Given the description of an element on the screen output the (x, y) to click on. 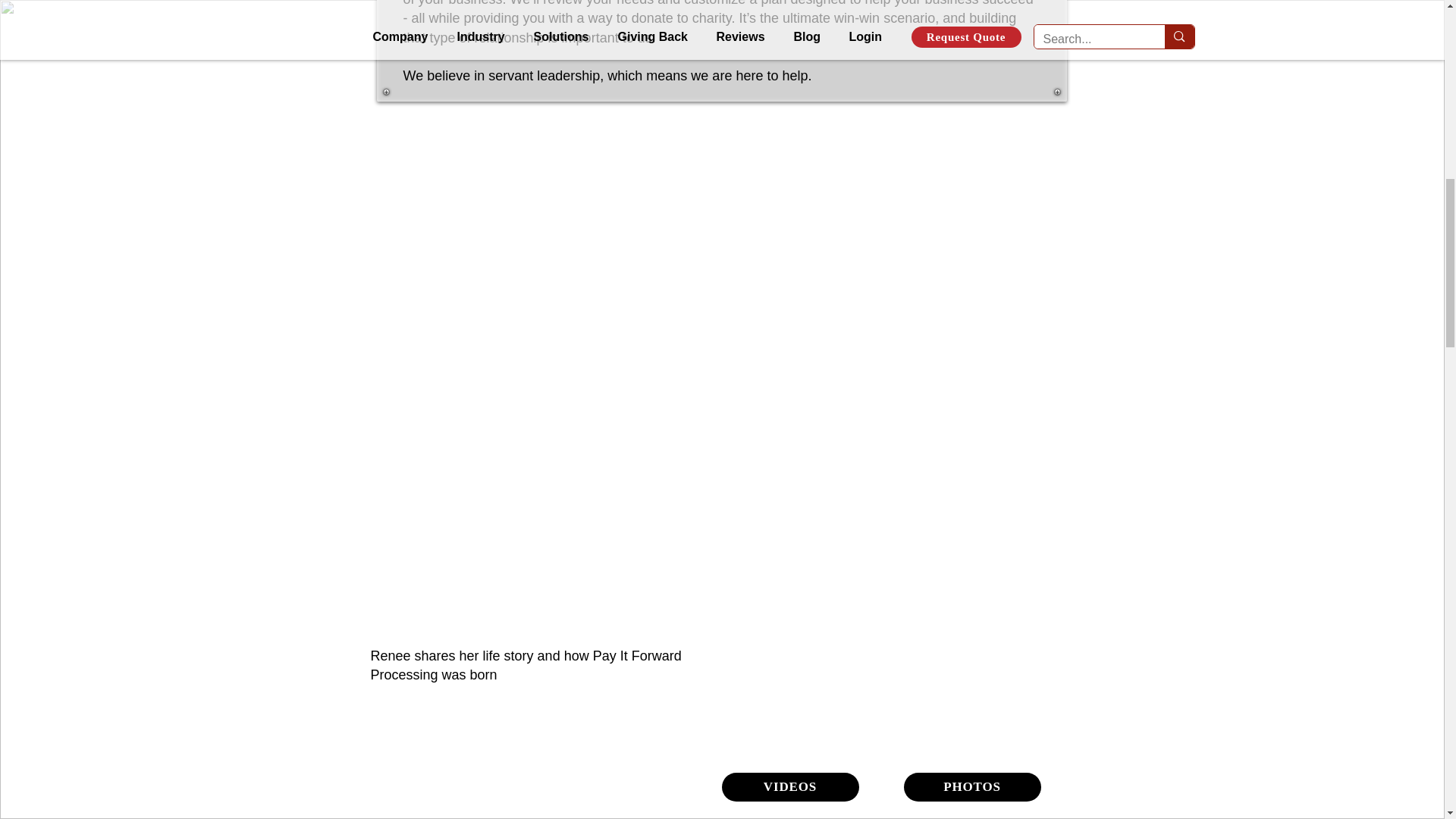
VIDEOS (790, 787)
PHOTOS (972, 787)
